Given the description of an element on the screen output the (x, y) to click on. 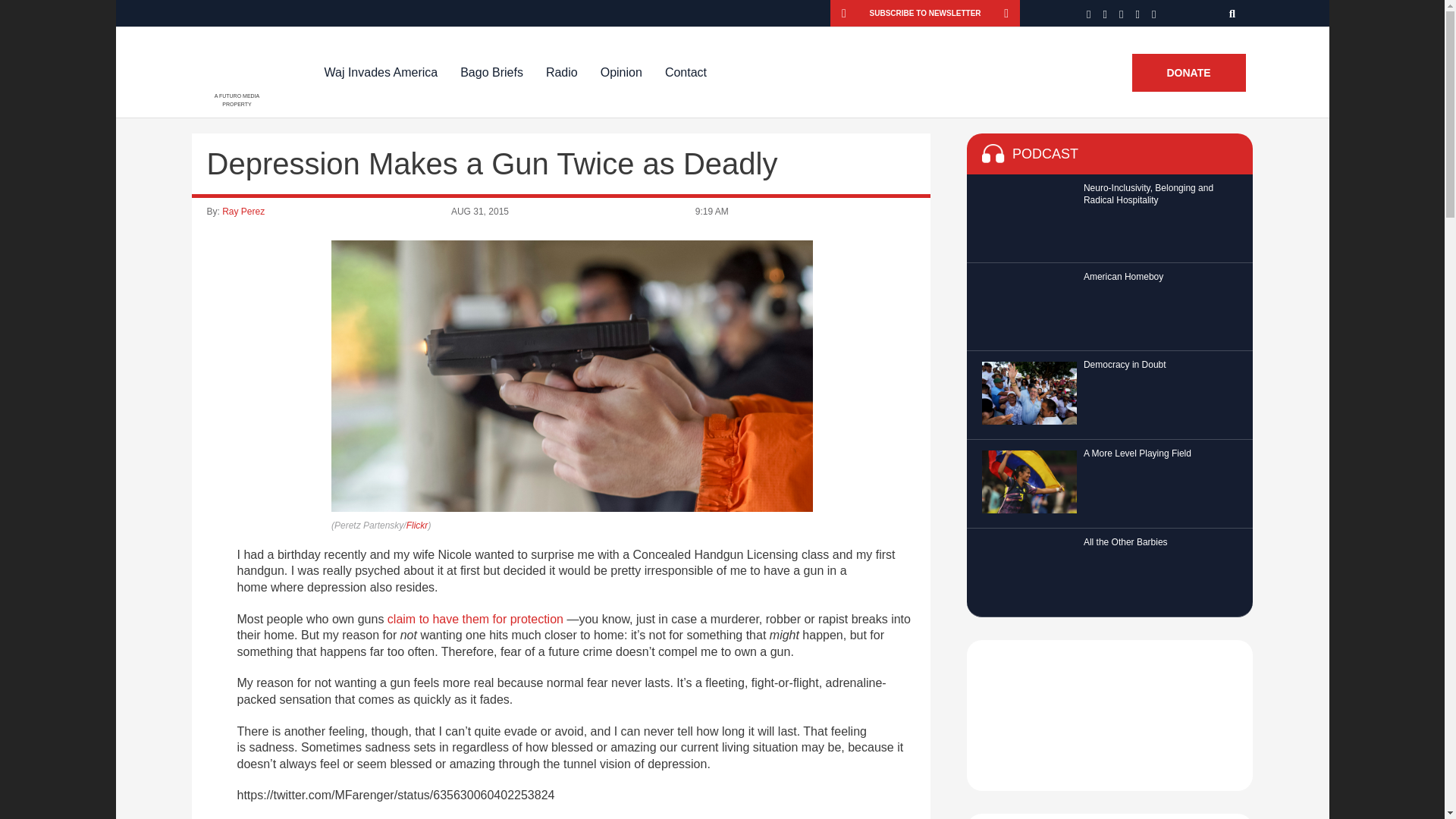
Flickr (417, 525)
Bago Briefs (491, 72)
DONATE (1187, 72)
Search (1233, 13)
Subscribe to newsletter (924, 13)
Ray Perez (243, 211)
claim to have them for protection (475, 618)
Posts by Ray Perez (243, 211)
Waj Invades America (380, 72)
Search (1233, 13)
Search (1233, 13)
